Given the description of an element on the screen output the (x, y) to click on. 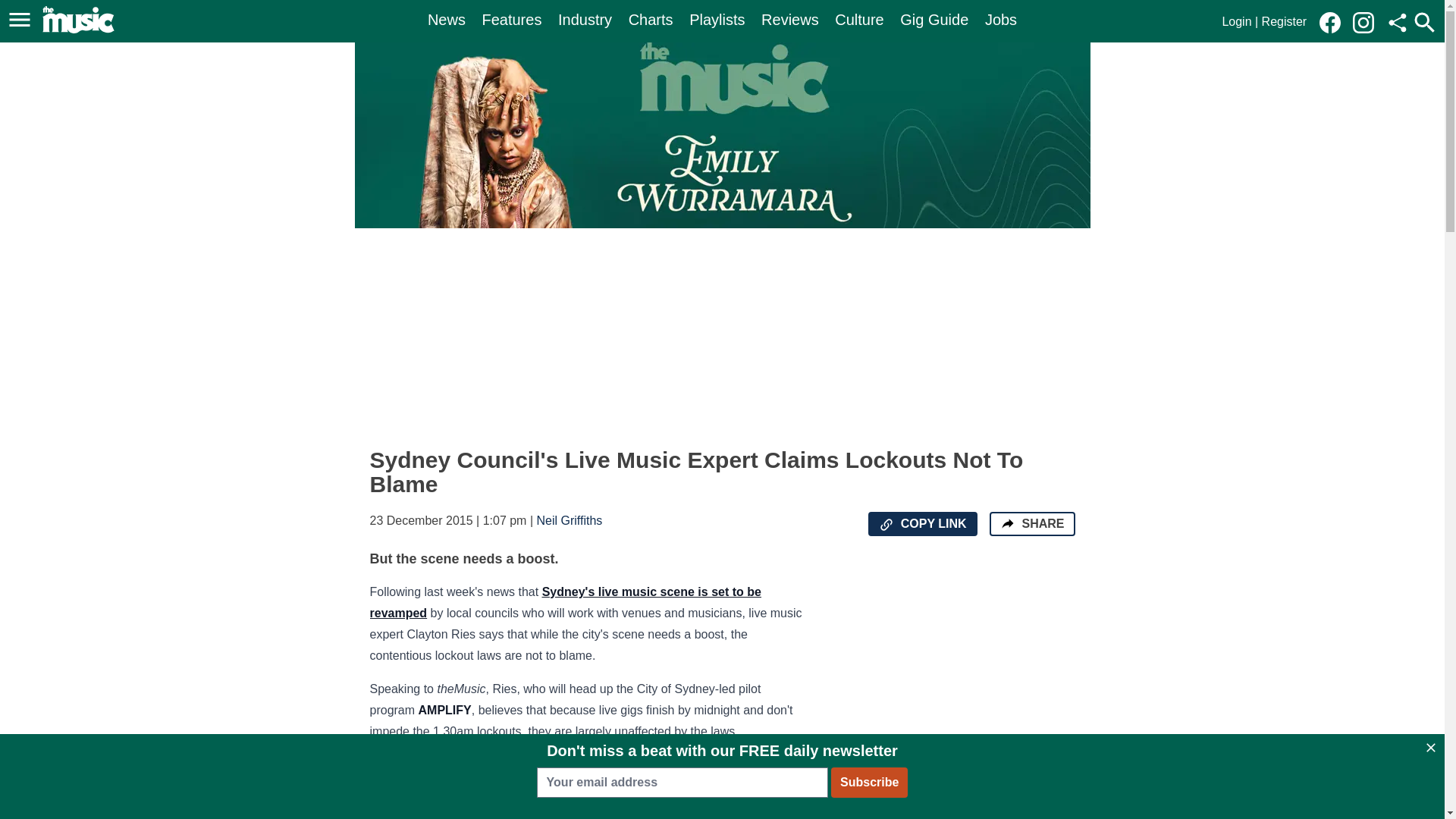
Link to our Facebook (1329, 22)
Reviews (789, 19)
Link to our Instagram (1367, 21)
Copy the page URL (886, 524)
Sydney's live music scene is set to be revamped (565, 602)
Open the main menu (19, 19)
Copy the page URL COPY LINK (921, 523)
Open the site search menu (1424, 22)
Features (511, 19)
Login (1235, 21)
Share the page (1007, 522)
Gig Guide (933, 19)
Link to our Facebook (1334, 21)
Share this page (1397, 22)
